Given the description of an element on the screen output the (x, y) to click on. 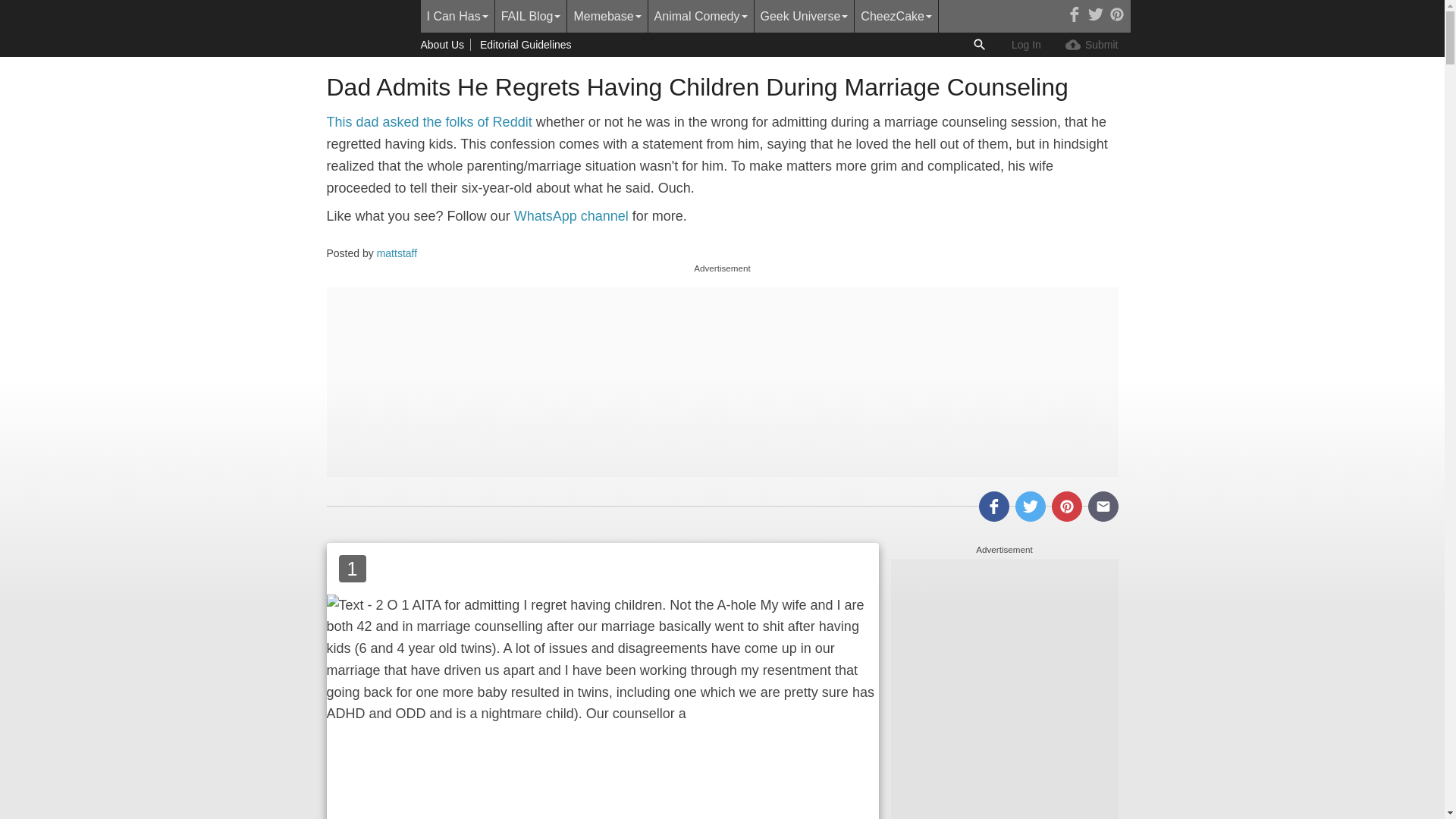
Animal Comedy (700, 16)
FAIL Blog (531, 16)
World's largest collection of cat memes and other animals (456, 16)
Cheezburger Homepage (367, 16)
I Can Has (456, 16)
Memebase (606, 16)
